Given the description of an element on the screen output the (x, y) to click on. 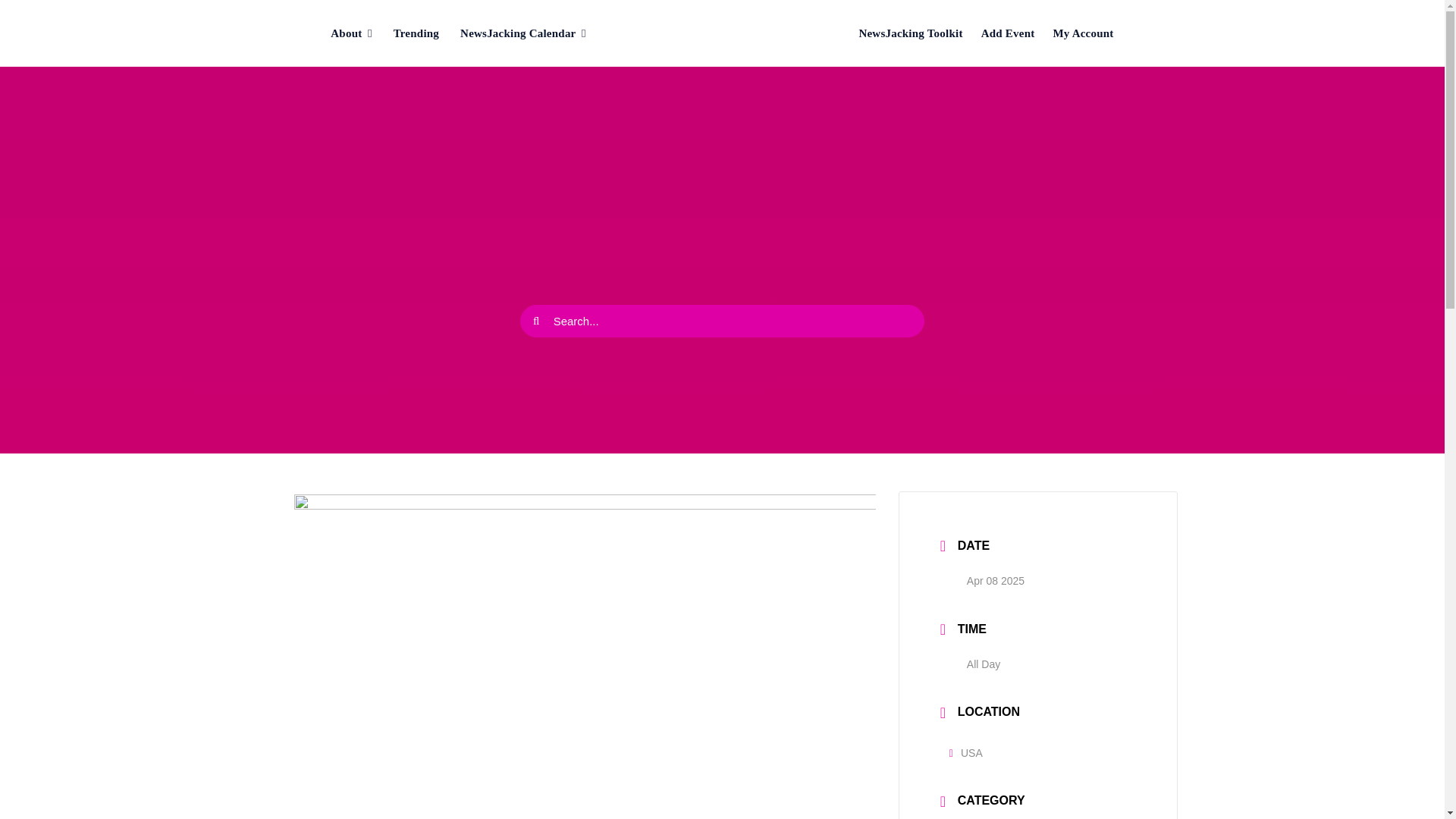
NewsJacking Calendar (523, 33)
About (351, 33)
Trending (416, 33)
